Given the description of an element on the screen output the (x, y) to click on. 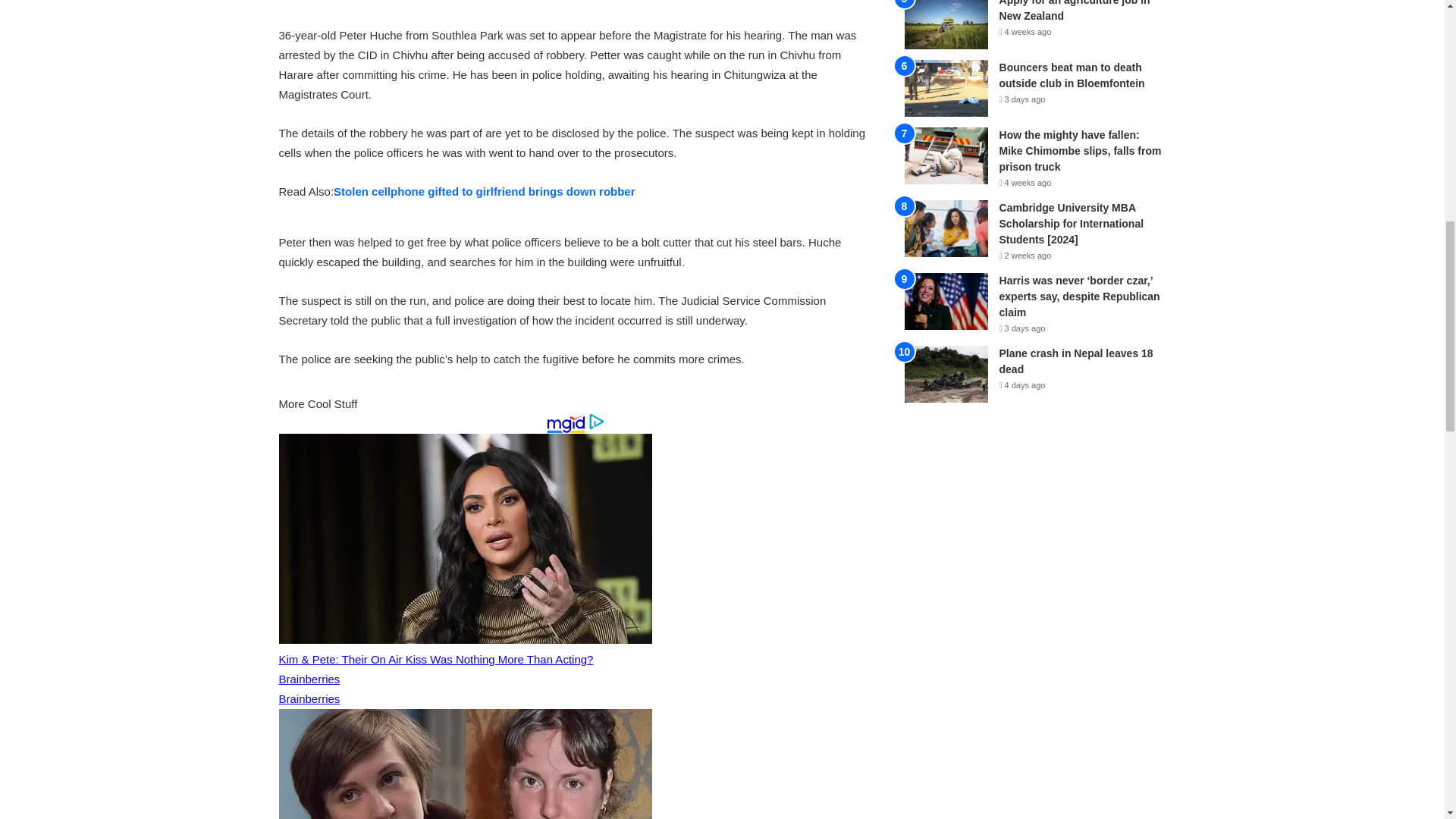
Stolen cellphone gifted to girlfriend brings down robber (483, 191)
